Given the description of an element on the screen output the (x, y) to click on. 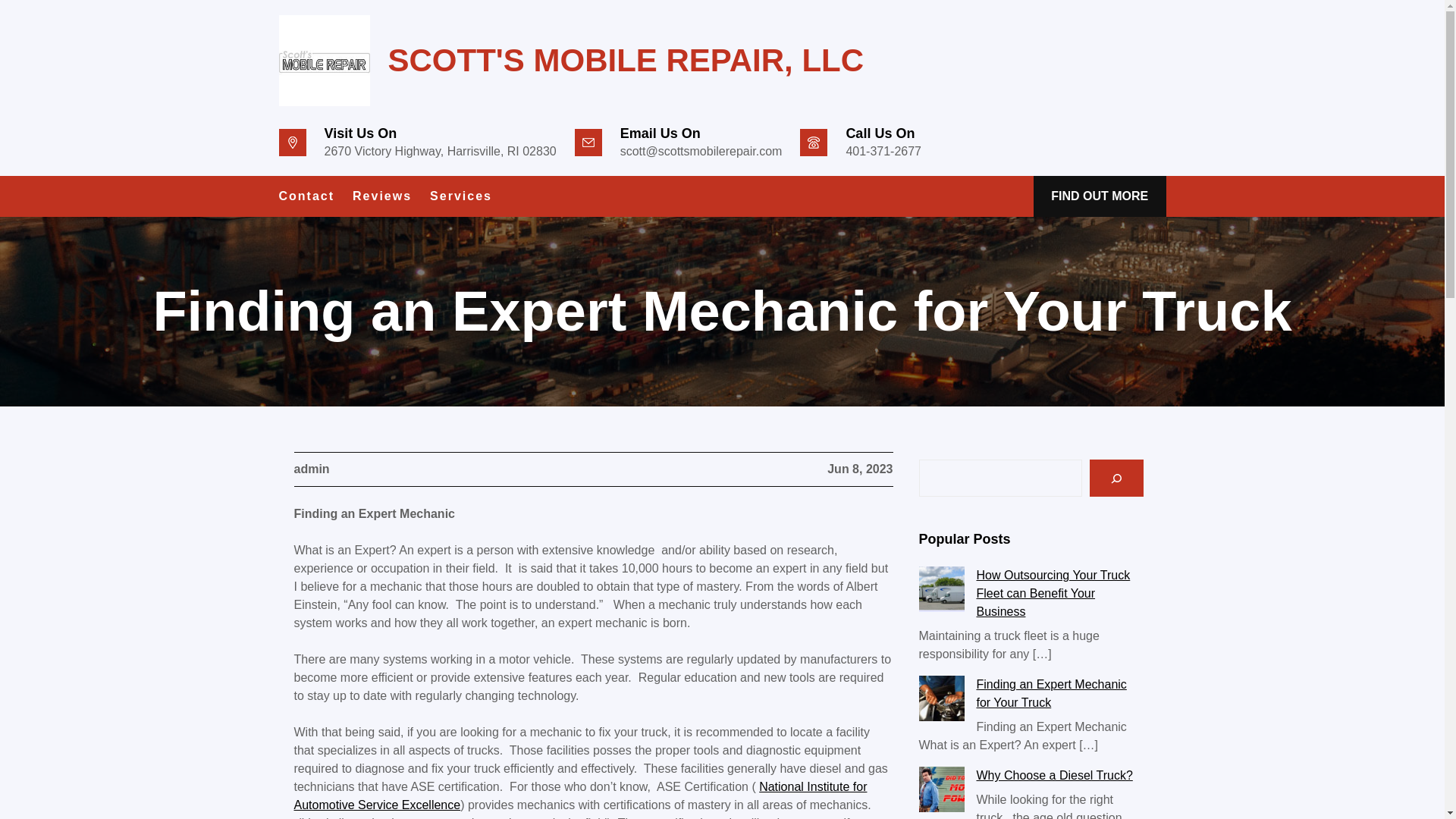
National Institute for Automotive Service Excellence (580, 795)
How Outsourcing Your Truck Fleet can Benefit Your Business (1053, 593)
Why Choose a Diesel Truck? (1054, 775)
Finding an Expert Mechanic for Your Truck (1051, 693)
SCOTT'S MOBILE REPAIR, LLC (626, 59)
Contact (306, 196)
Services (460, 196)
Reviews (382, 196)
FIND OUT MORE (1099, 196)
